Given the description of an element on the screen output the (x, y) to click on. 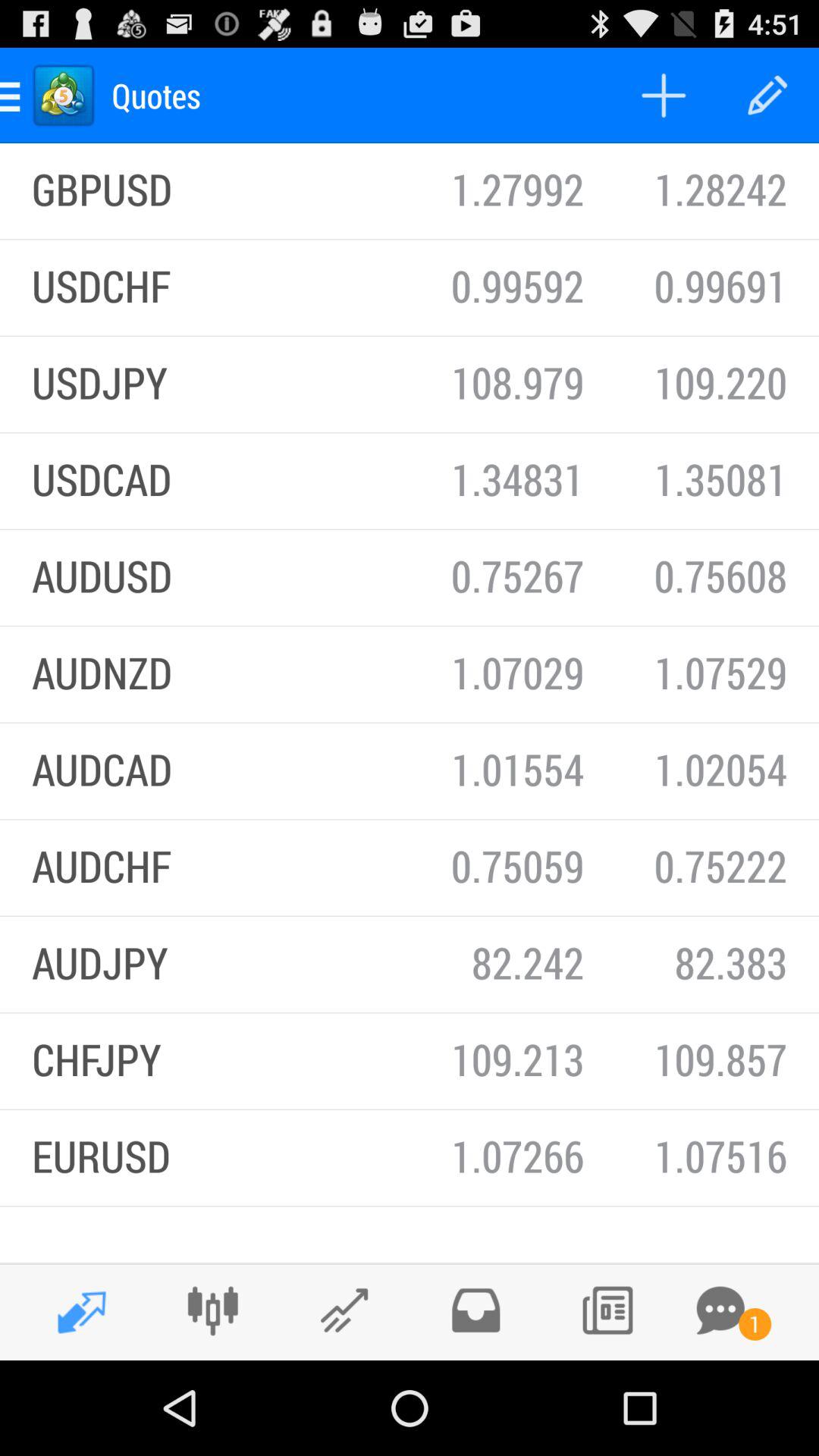
text option (720, 1310)
